Given the description of an element on the screen output the (x, y) to click on. 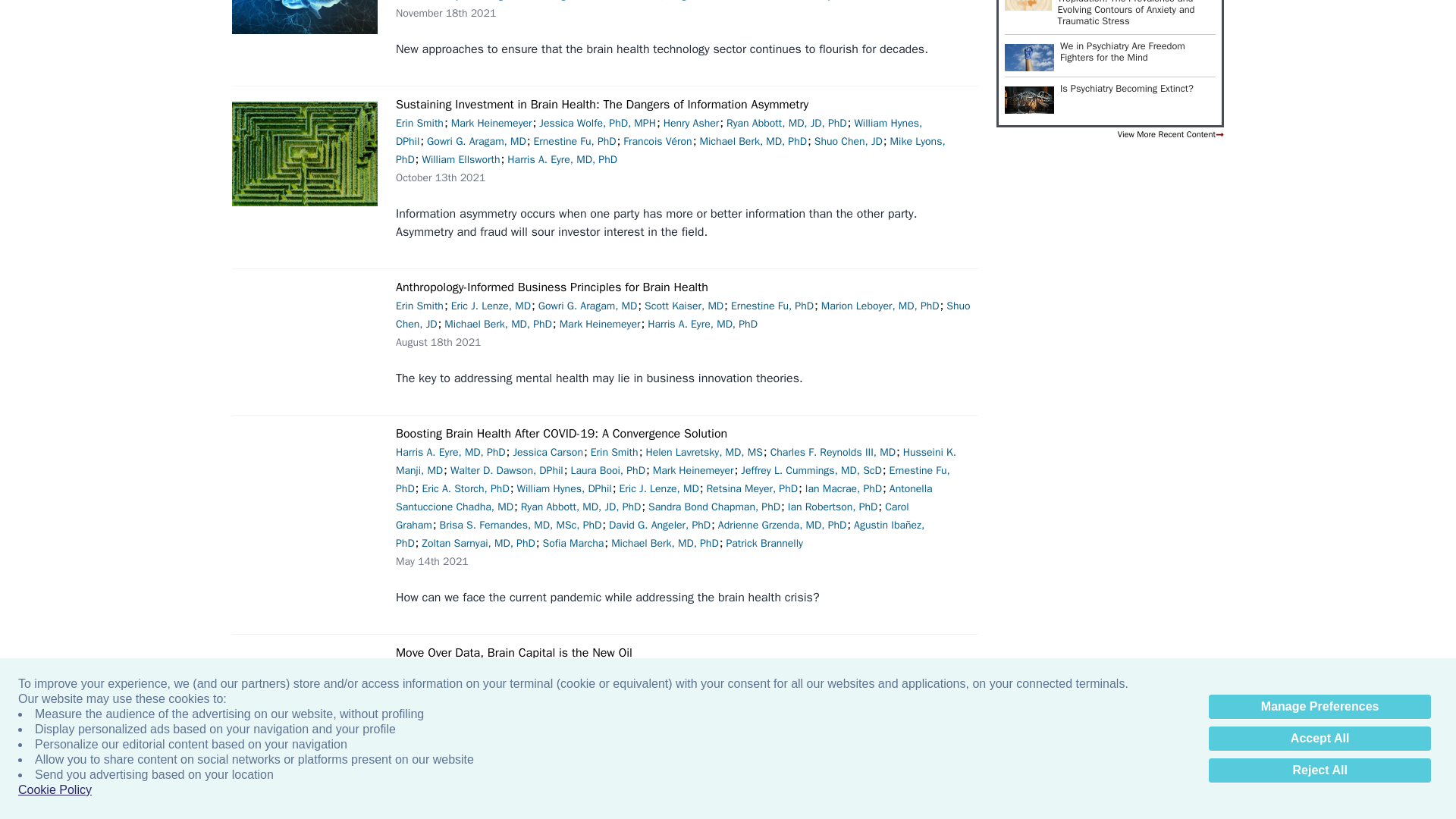
traumatic stress (1027, 4)
